Given the description of an element on the screen output the (x, y) to click on. 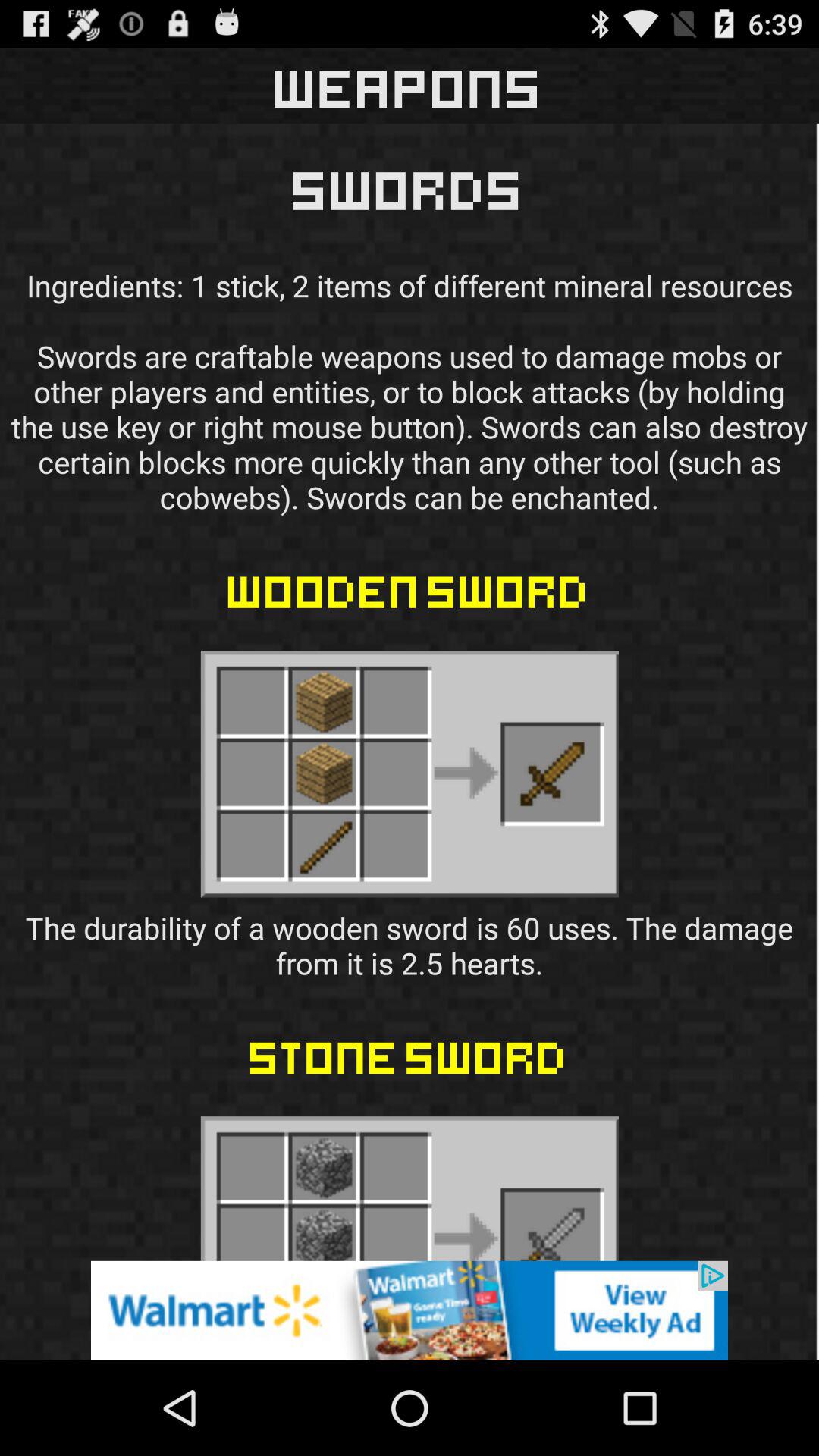
pop up advertisement (409, 1310)
